Given the description of an element on the screen output the (x, y) to click on. 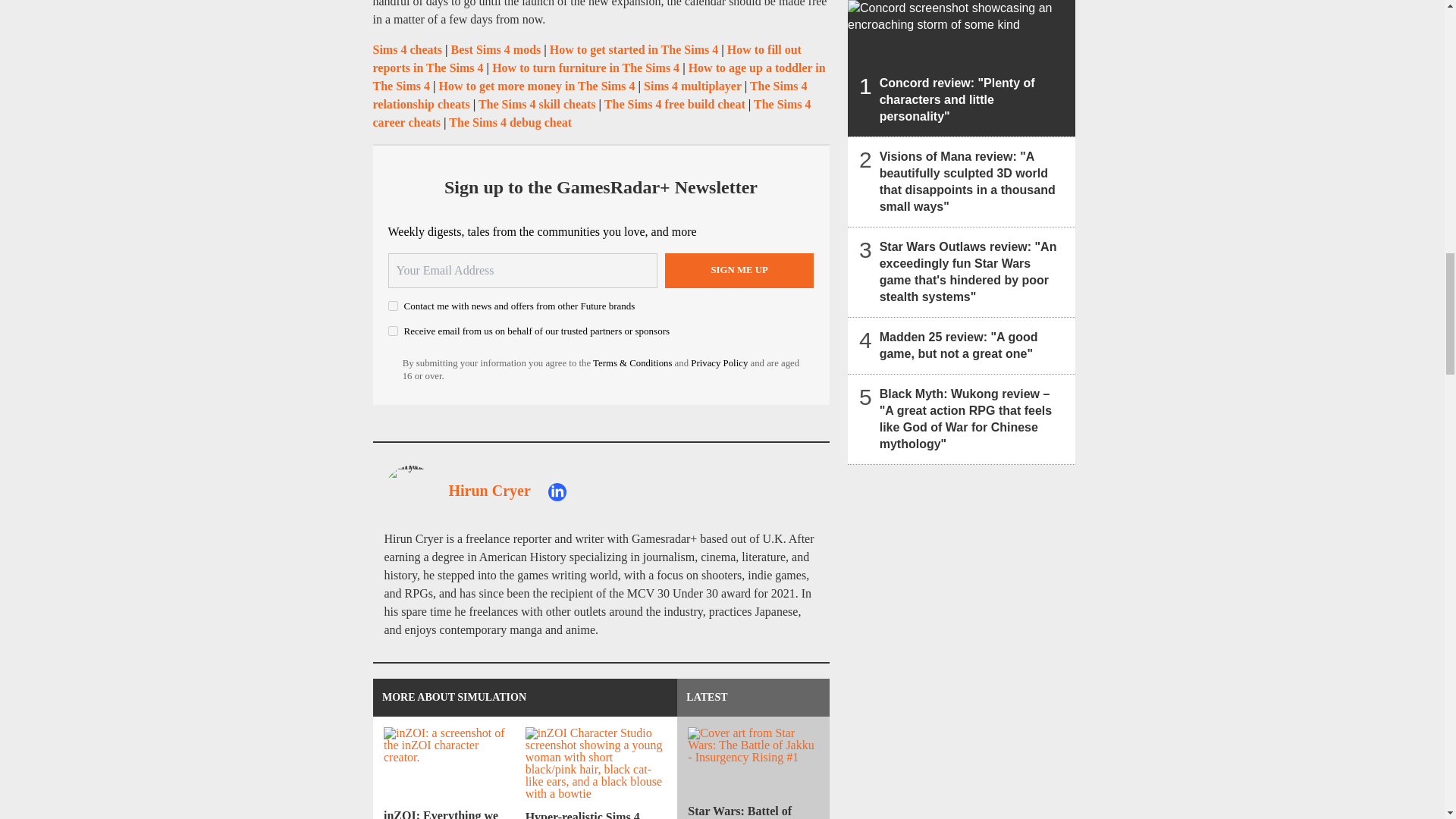
on (392, 306)
on (392, 330)
Sign me up (739, 270)
